Given the description of an element on the screen output the (x, y) to click on. 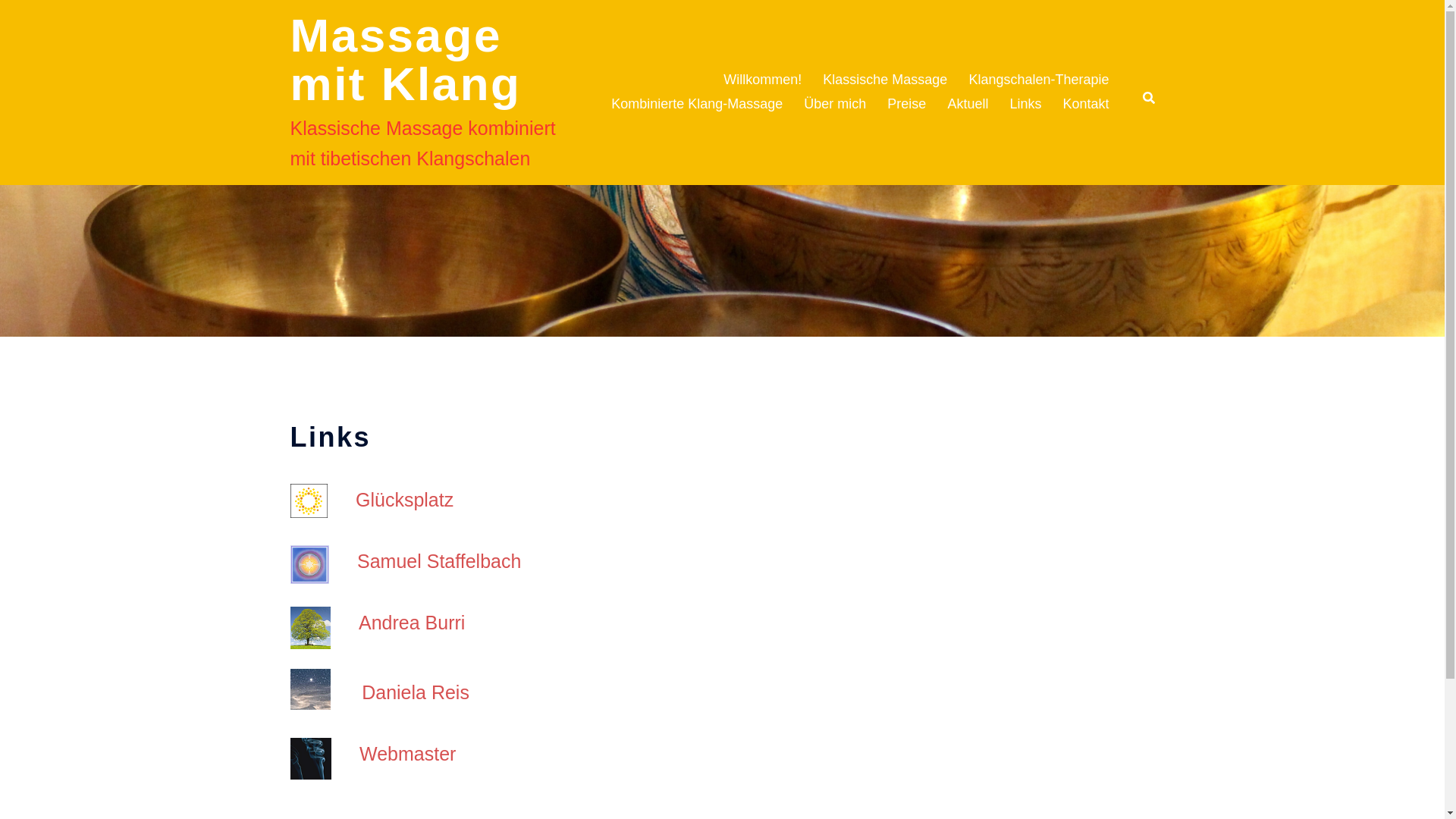
Daniela Reis Element type: text (415, 691)
Webmaster Element type: text (407, 753)
Samuel Staffelbach Element type: text (438, 560)
Kombinierte Klang-Massage Element type: text (696, 104)
Kontakt Element type: text (1085, 104)
Links Element type: text (1025, 104)
Willkommen! Element type: text (762, 80)
Andrea Burri Element type: text (411, 622)
Klangschalen-Therapie Element type: text (1038, 80)
Massage mit Klang Element type: text (404, 59)
Preise Element type: text (906, 104)
Aktuell Element type: text (967, 104)
Klassische Massage Element type: text (884, 80)
